Given the description of an element on the screen output the (x, y) to click on. 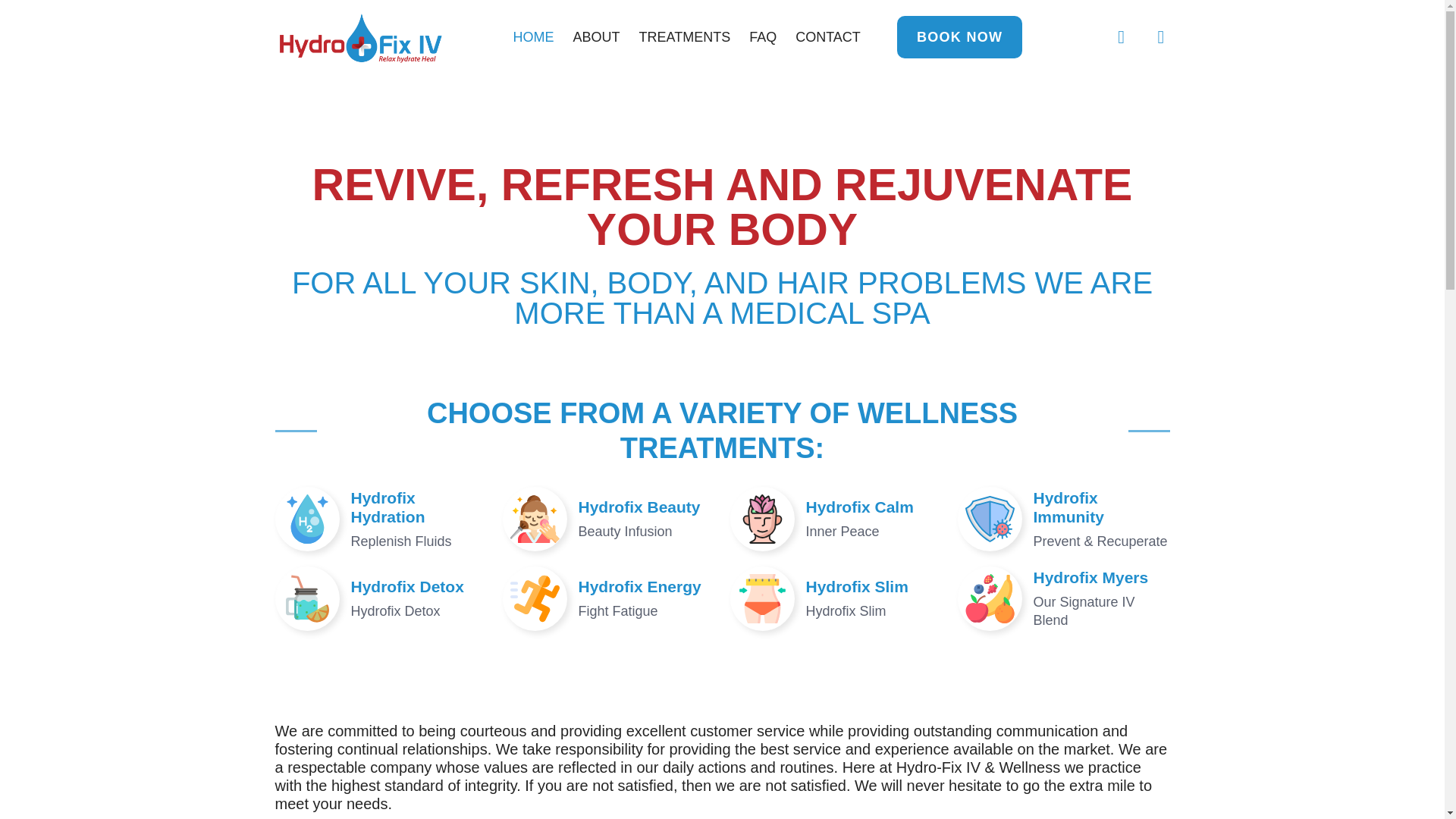
Hydrofix Immunity (1067, 506)
Hydrofix Detox (406, 586)
ABOUT (596, 37)
TREATMENTS (684, 37)
Hydrofix Hydration (387, 506)
Hydrofix Calm (858, 506)
Hydrofix Beauty (639, 506)
Hydrofix Energy (639, 586)
BOOK NOW (959, 36)
FAQ (762, 37)
